Given the description of an element on the screen output the (x, y) to click on. 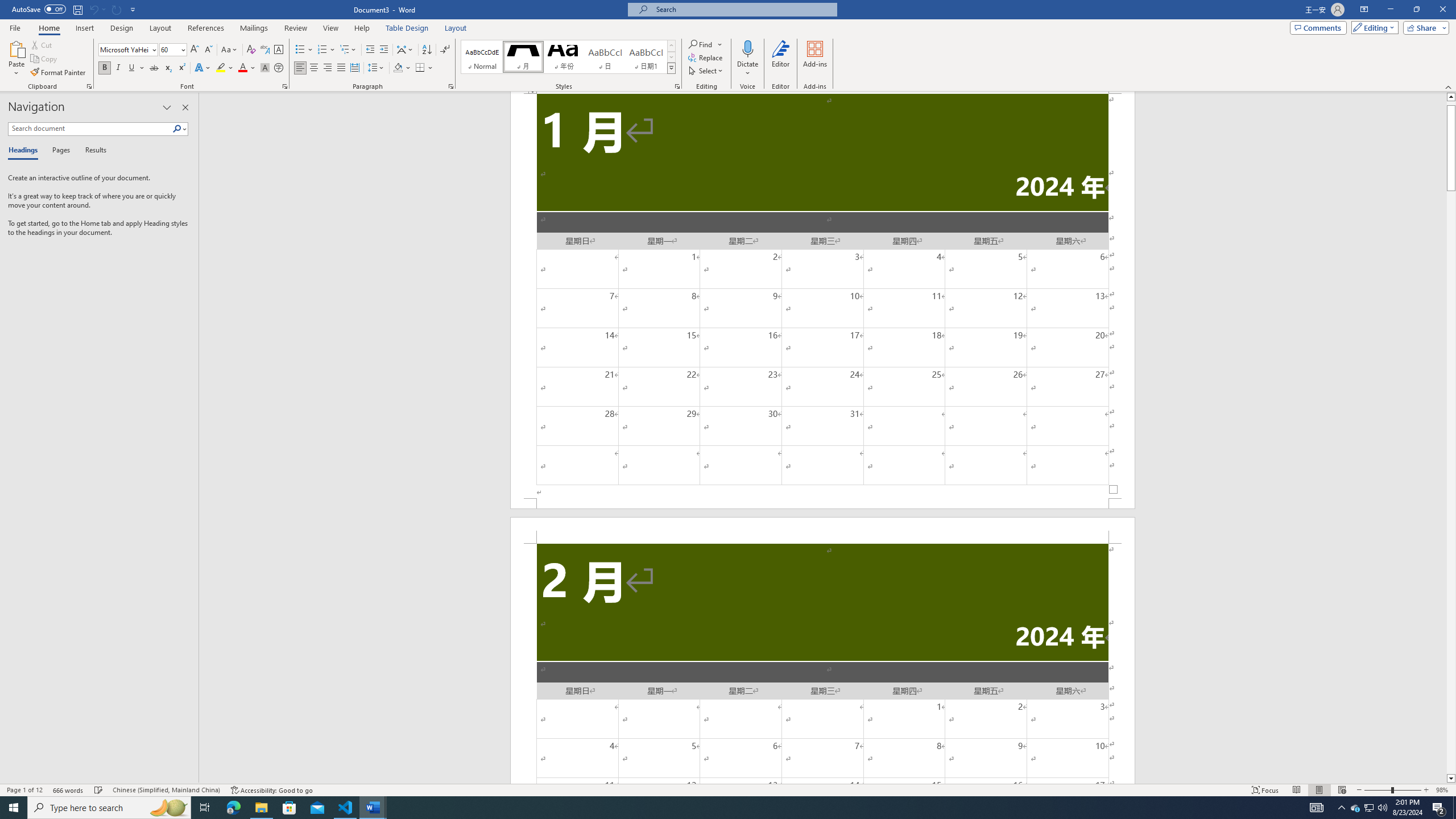
Can't Undo (96, 9)
